Given the description of an element on the screen output the (x, y) to click on. 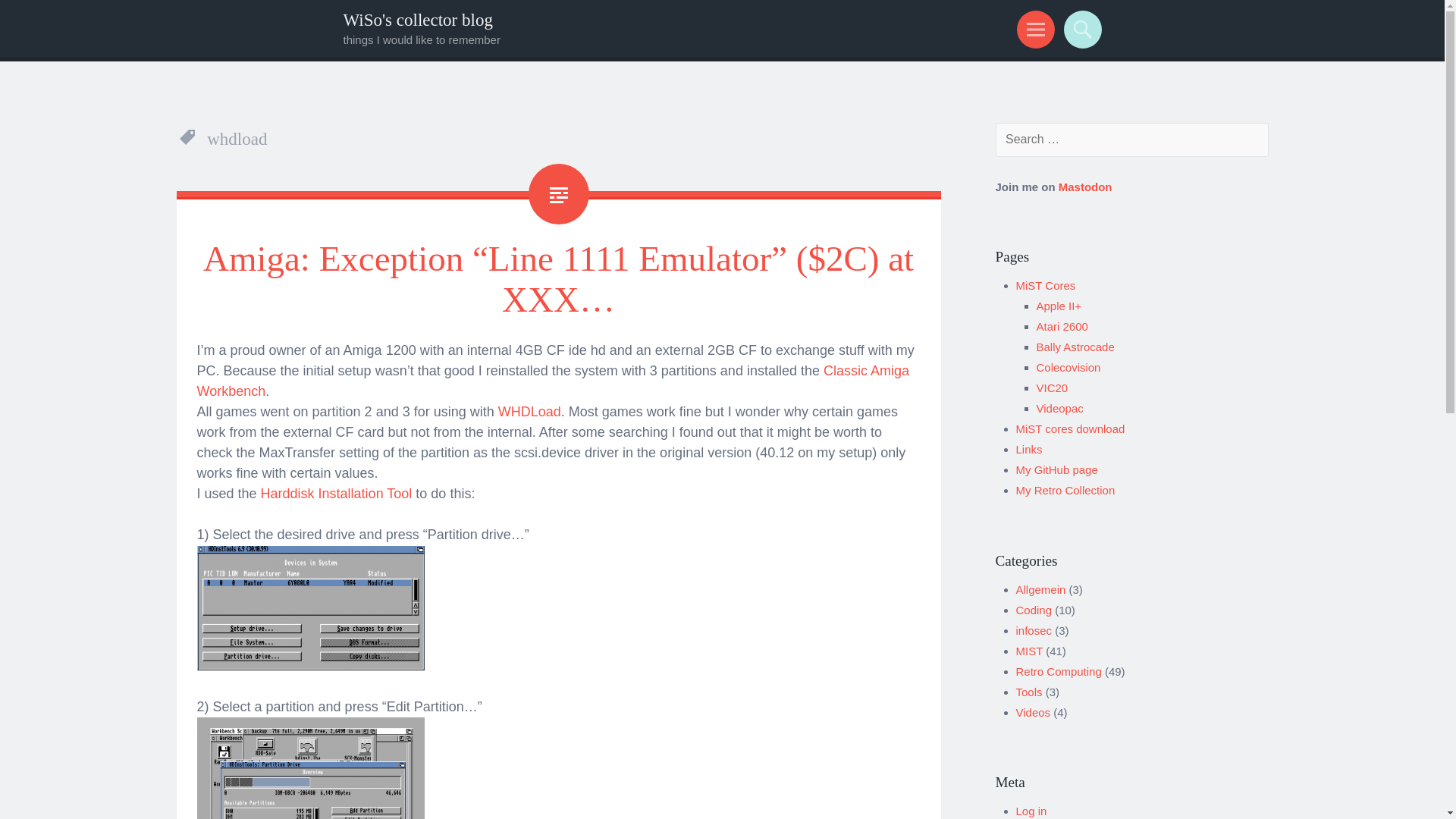
WHDLoad (528, 411)
Search (1080, 29)
MiST Cores (1045, 285)
My Retro Collection (1065, 490)
Links (1029, 449)
infosec (1033, 630)
Link collection (1029, 449)
Bally Astrocade (1074, 346)
Atari 2600 (1061, 326)
Coding (1034, 609)
Harddisk Installation Tool (336, 493)
Mastodon (1085, 186)
MiST cores download (1070, 428)
MIST (1029, 650)
Videopac (1059, 408)
